Given the description of an element on the screen output the (x, y) to click on. 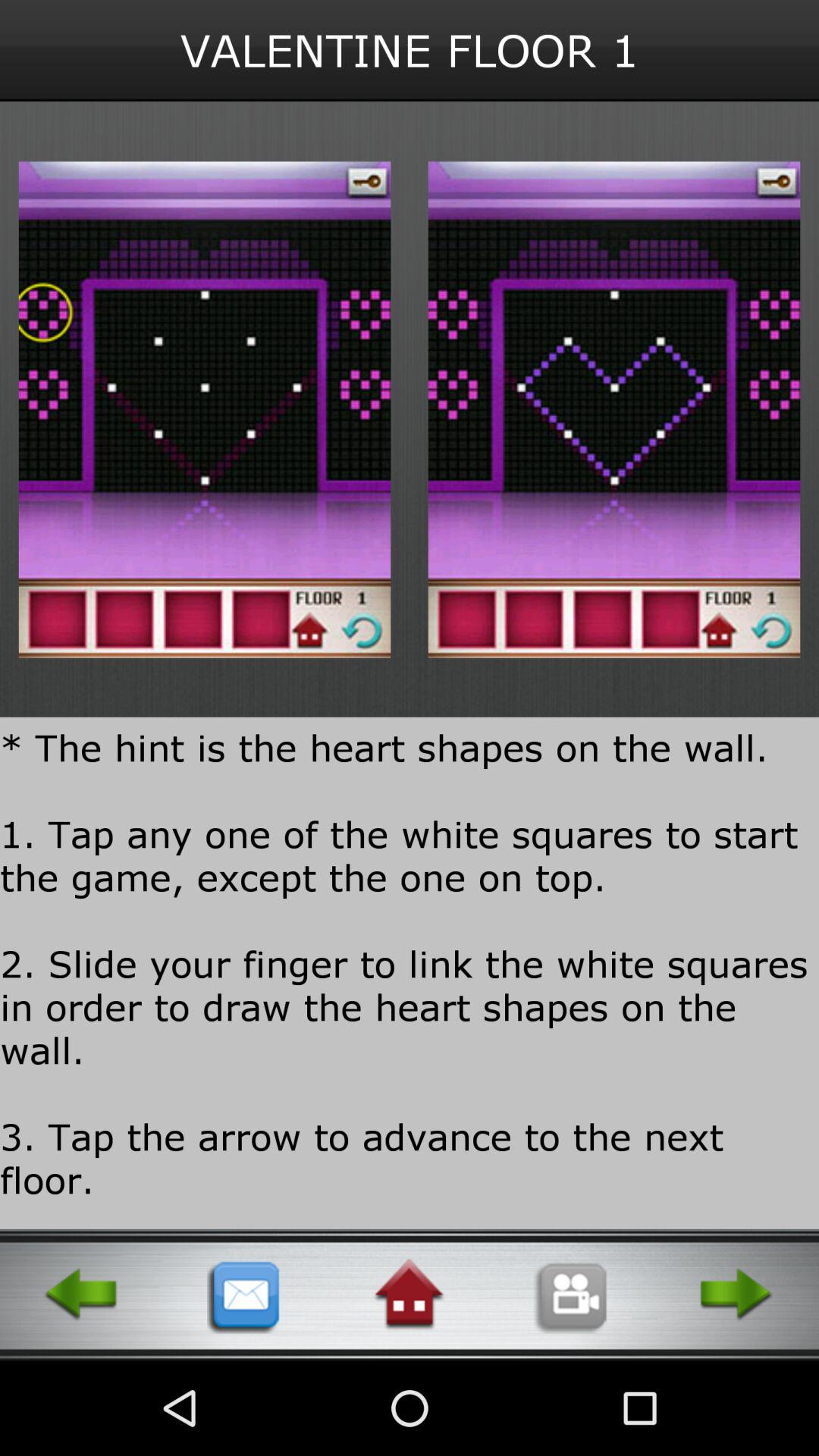
go back (81, 1294)
